Given the description of an element on the screen output the (x, y) to click on. 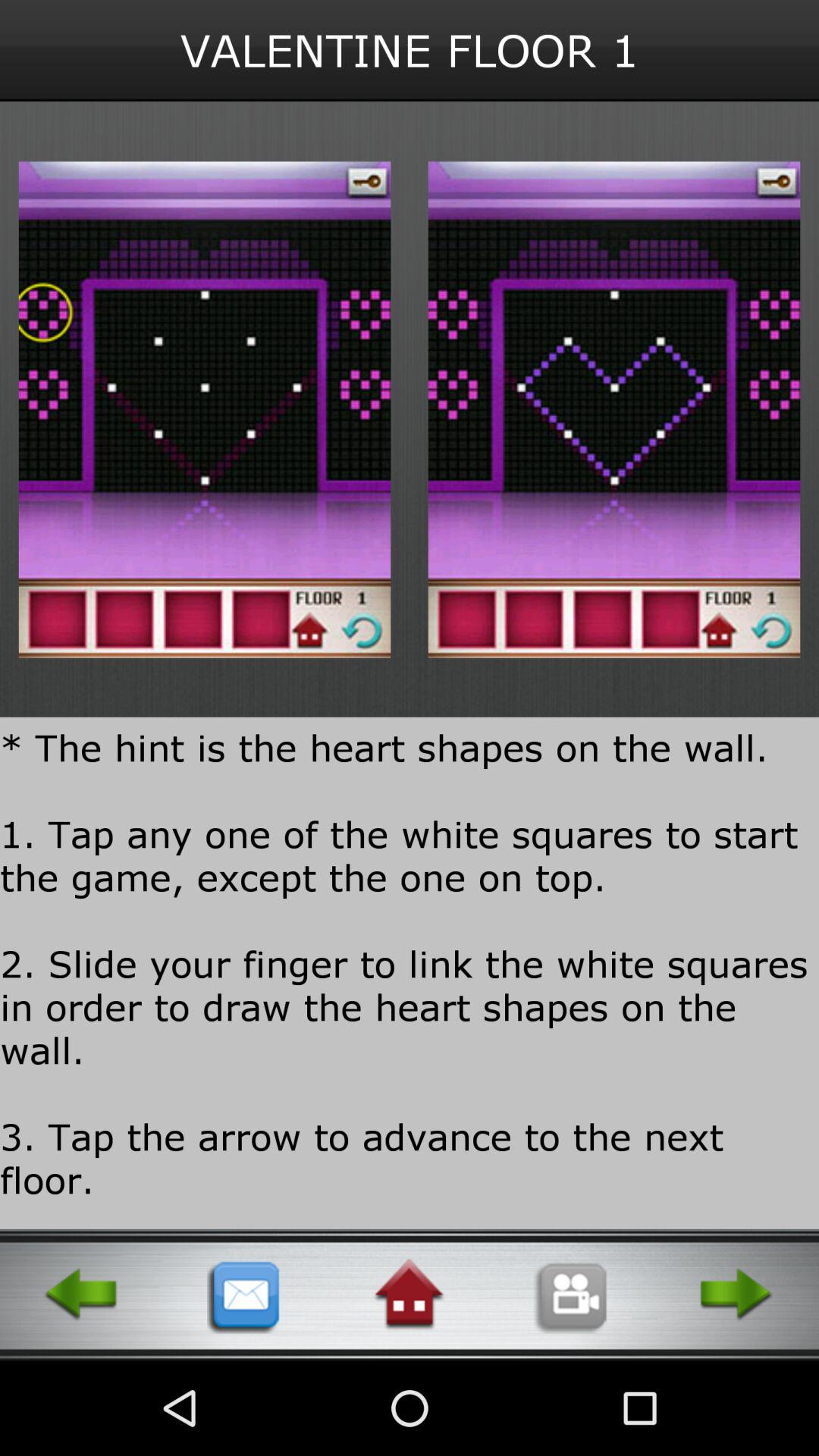
go back (81, 1294)
